Given the description of an element on the screen output the (x, y) to click on. 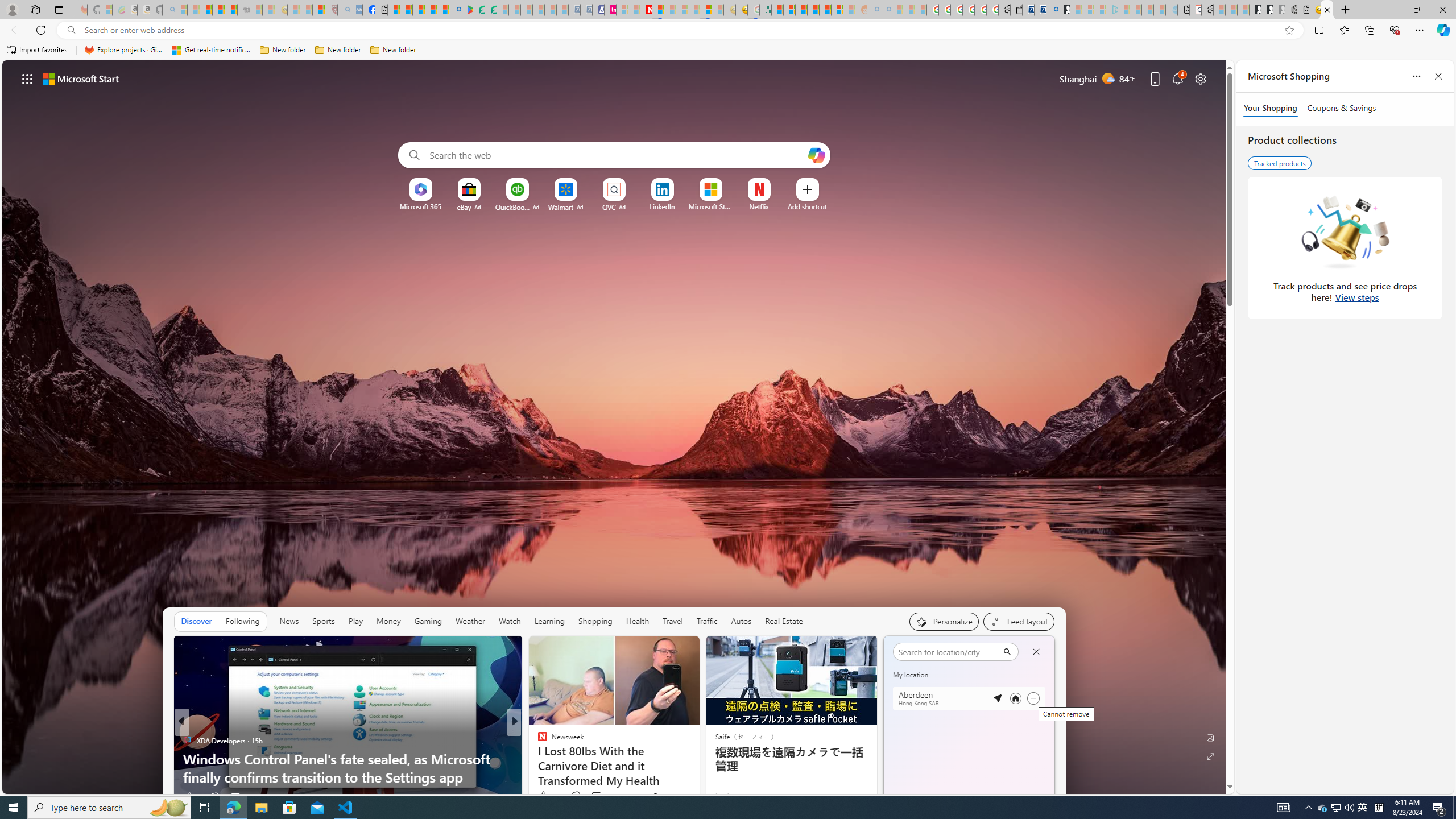
next (1047, 722)
New folder (392, 49)
Expand background (1210, 756)
Cancel (1035, 651)
Bing Real Estate - Home sales and rental listings (1051, 9)
The Passport Kitchen (537, 758)
